Given the description of an element on the screen output the (x, y) to click on. 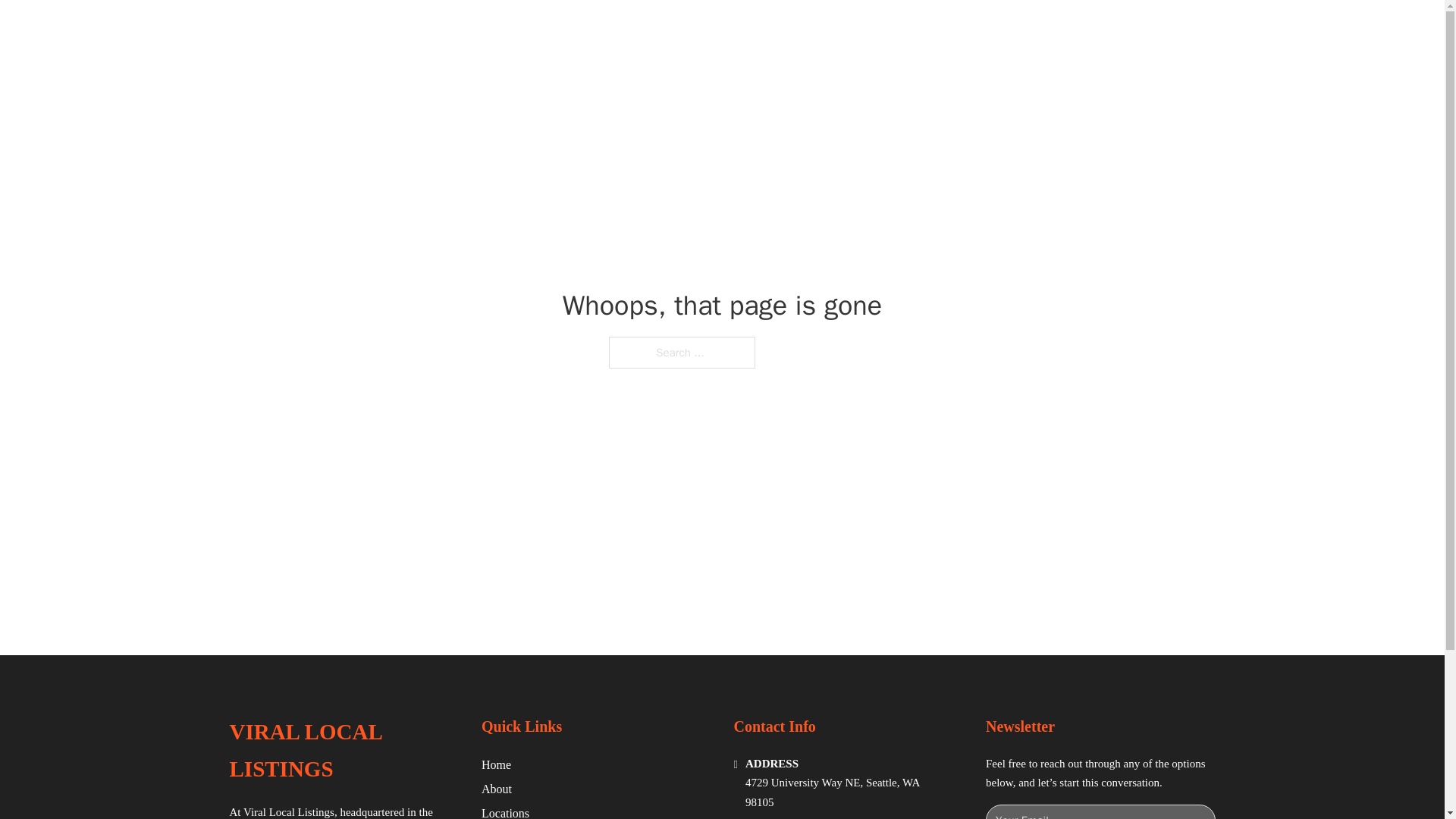
VIRAL LOCAL LISTINGS (343, 750)
HOME (1025, 31)
VIRAL LOCAL LISTINGS (373, 31)
Locations (505, 811)
Home (496, 764)
LOCATIONS (1098, 31)
About (496, 788)
